Given the description of an element on the screen output the (x, y) to click on. 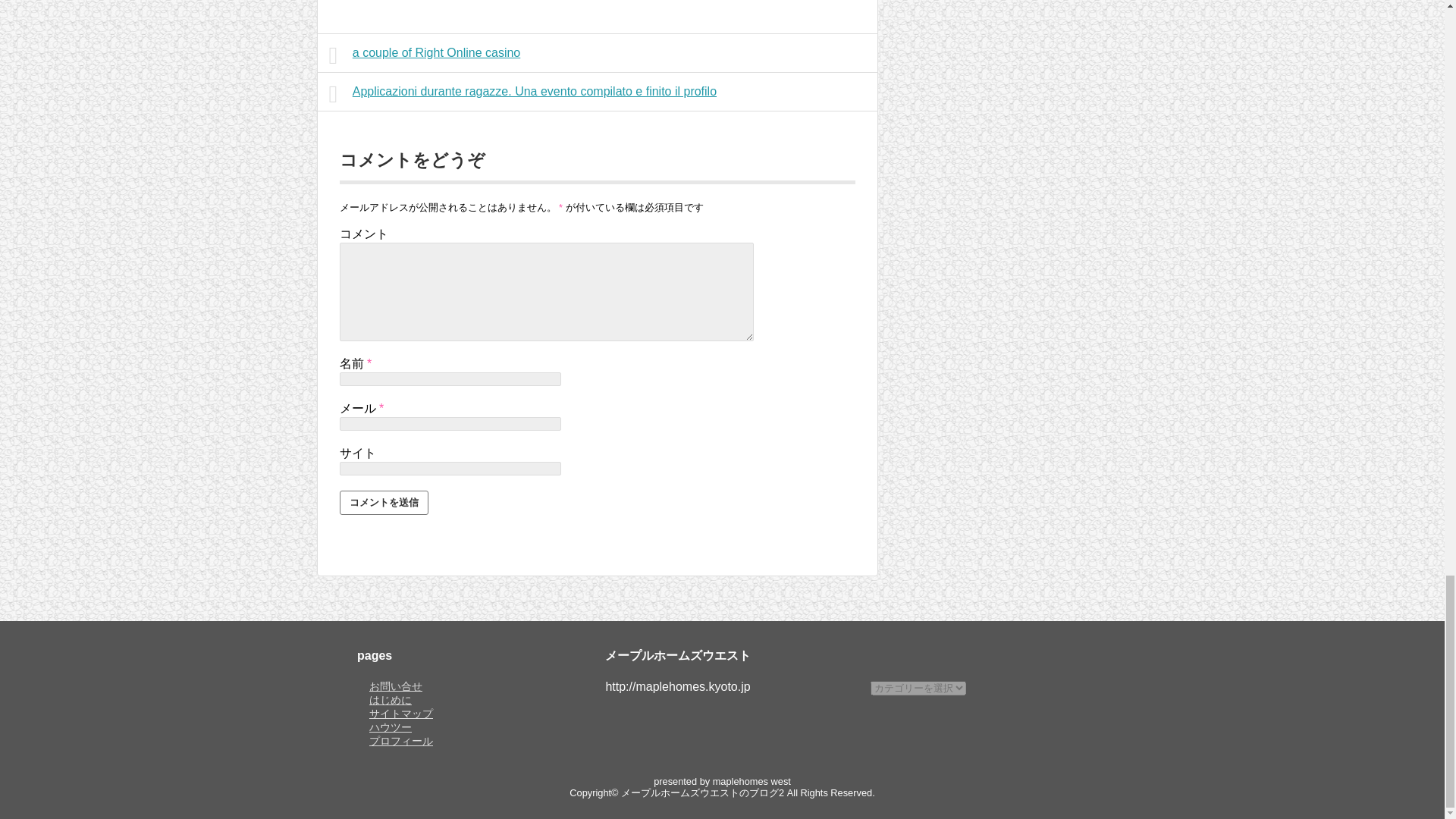
a couple of Right Online casino (597, 53)
